Given the description of an element on the screen output the (x, y) to click on. 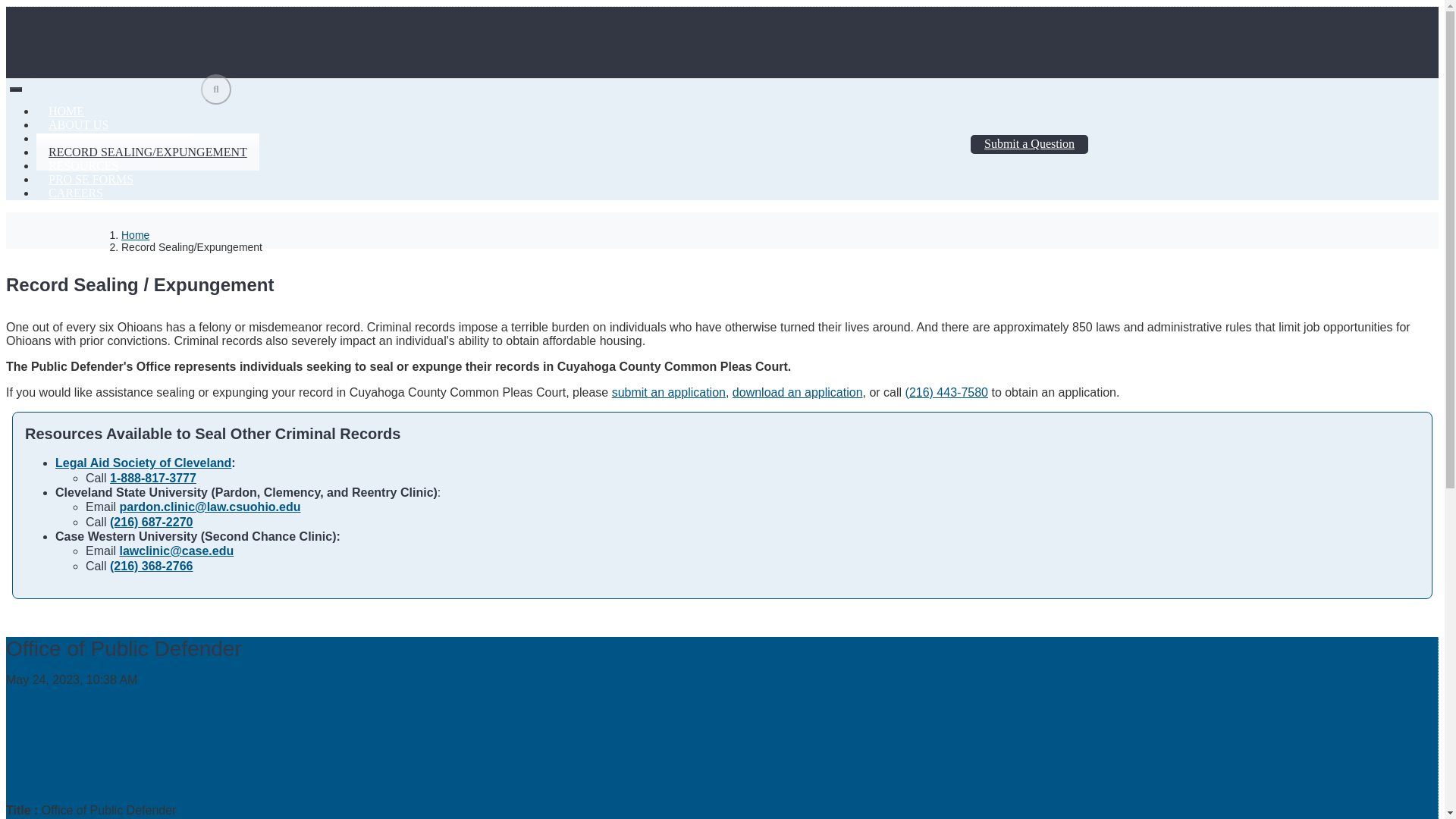
CAREERS (75, 192)
Submit a Question (1029, 144)
1-888-817-3777 (153, 477)
Home (134, 234)
Legal Aid Society of Cleveland (143, 462)
submit an application (668, 391)
RESOURCES (83, 165)
download an application (797, 391)
HOME (66, 110)
ABOUT US (78, 124)
